Given the description of an element on the screen output the (x, y) to click on. 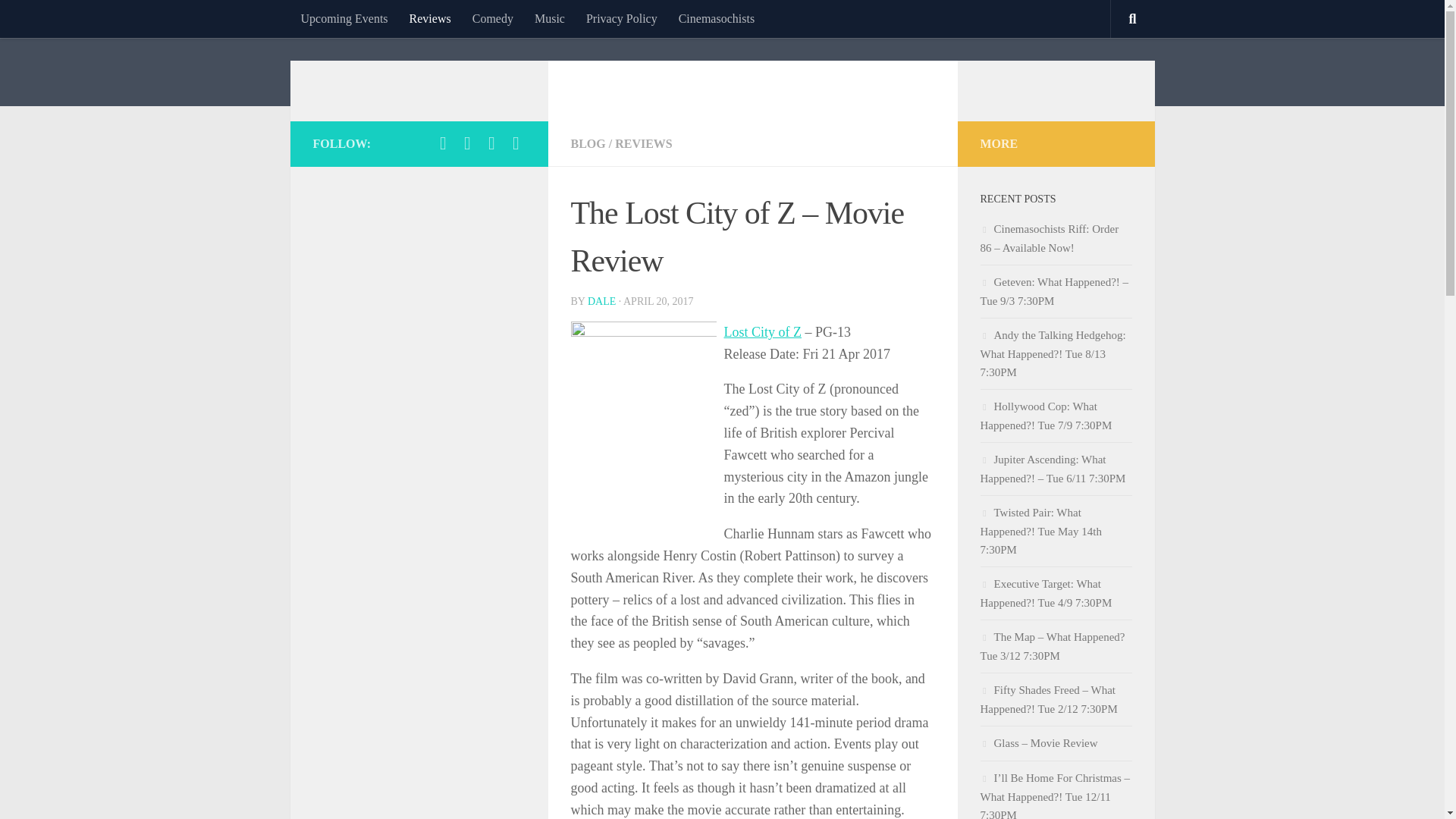
Follow us on Twitter (467, 143)
Cinemasochists (716, 18)
REVIEWS (643, 143)
Dale Maxfield (406, 90)
Music (549, 18)
Privacy Policy (621, 18)
Posts by Dale (601, 301)
Skip to content (59, 20)
Upcoming Events (343, 18)
Lost City of Z (762, 331)
BLOG (587, 143)
Comedy (492, 18)
Follow us on Facebook (442, 143)
Reviews (429, 18)
DALE (601, 301)
